Given the description of an element on the screen output the (x, y) to click on. 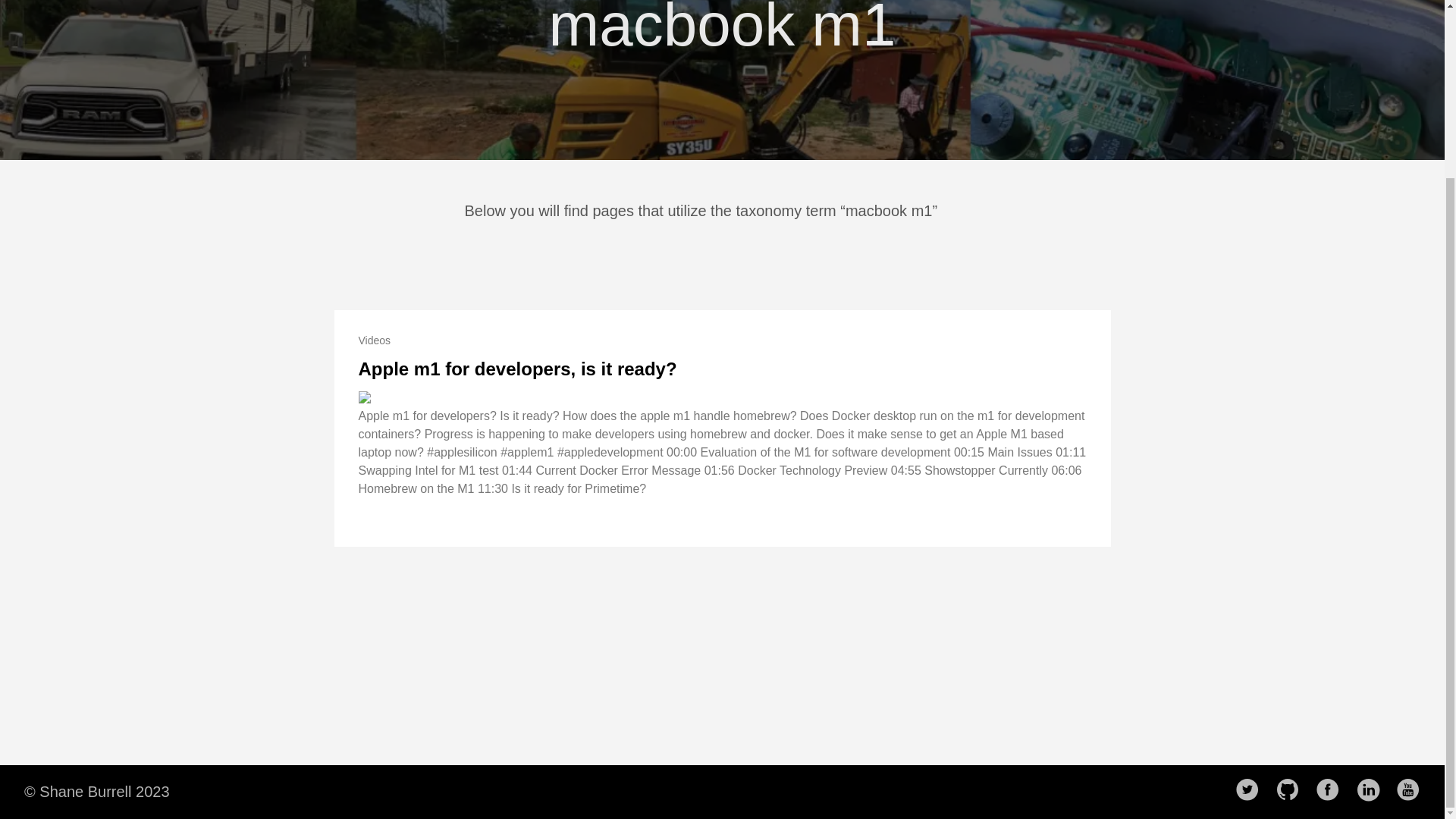
GitHub link (1291, 790)
LinkedIn link (1372, 790)
Apple m1 for developers, is it ready? (517, 368)
Twitter link (1251, 790)
YouTube link (1412, 790)
Facebook link (1332, 790)
